Given the description of an element on the screen output the (x, y) to click on. 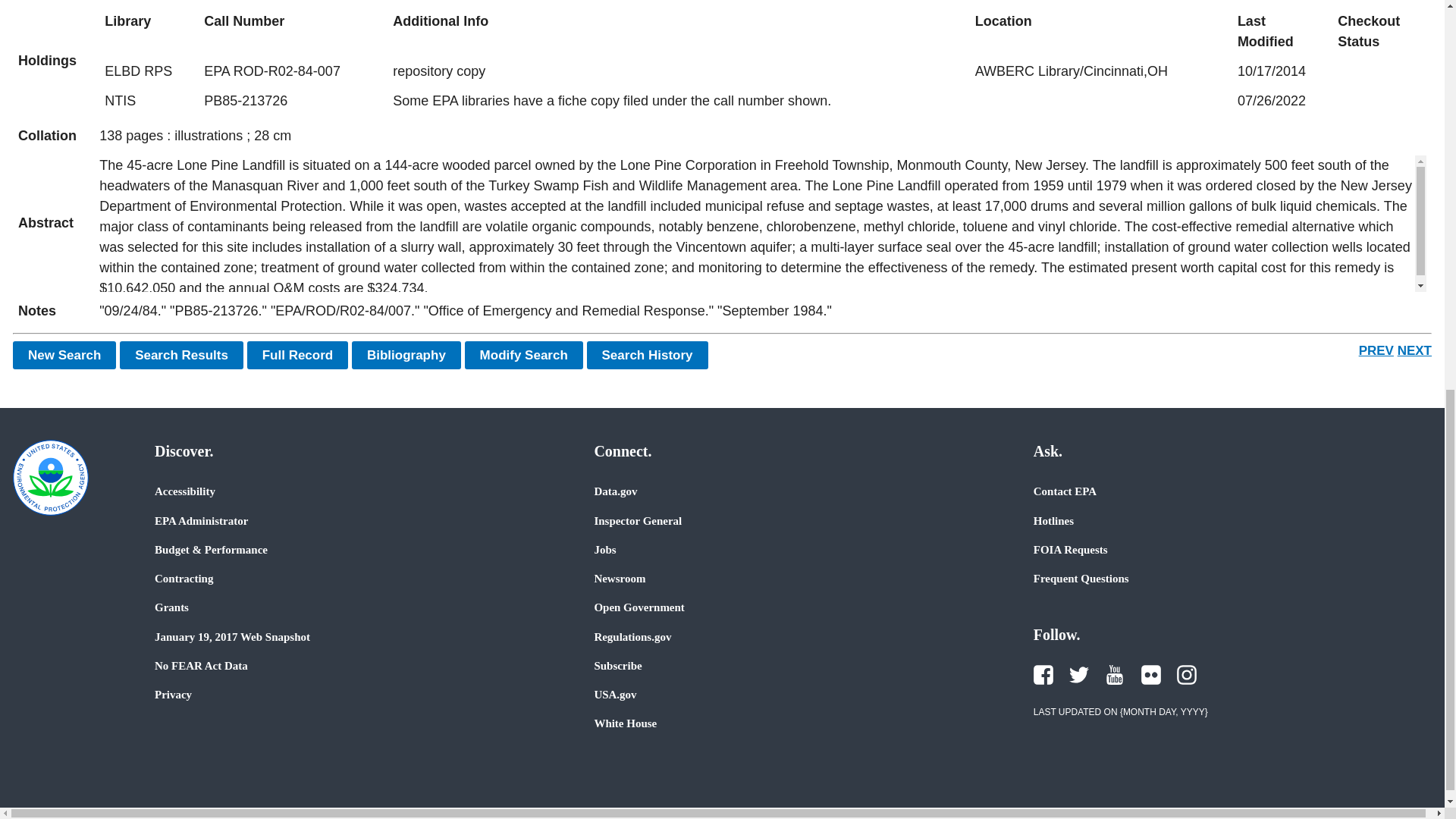
New Search (64, 355)
Full Record (298, 355)
Create a New Search (64, 355)
Show results in standard format (181, 355)
Search Results (181, 355)
full length text available by clicking full record (762, 311)
Modify Search (523, 355)
Search History (646, 355)
Bibliography (406, 355)
